Given the description of an element on the screen output the (x, y) to click on. 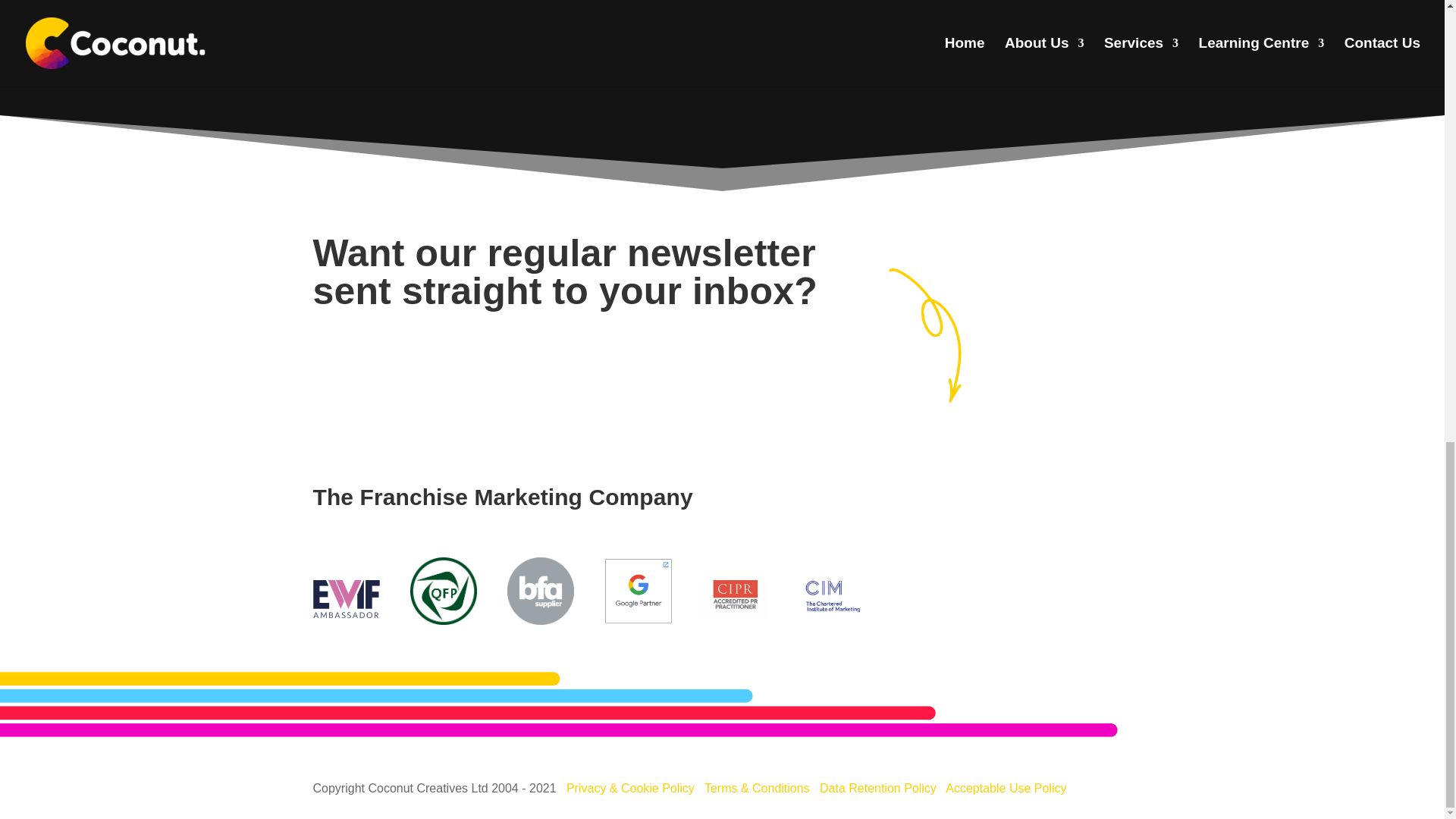
Acceptable Use Policy (1004, 788)
coco-lines (559, 704)
The BFA Supplier Logo PNG (539, 590)
Data Retention Policy (877, 788)
Acceptable Use Policy (1004, 788)
cipr (734, 599)
cim-logo (832, 596)
Data Retention Policy (877, 788)
41295-BFA-QFP-logo-1 (443, 590)
